Given the description of an element on the screen output the (x, y) to click on. 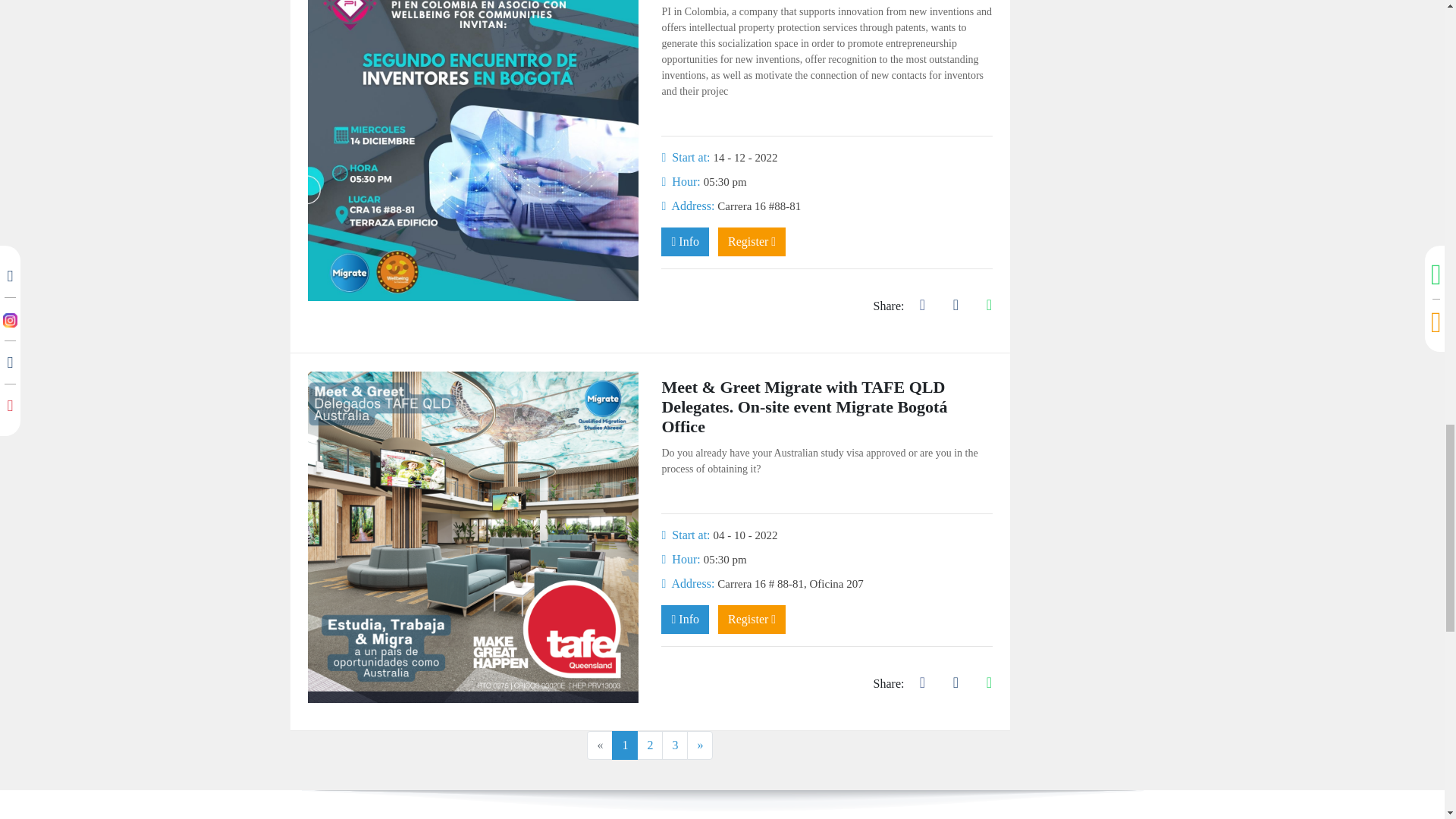
Info (685, 241)
